Given the description of an element on the screen output the (x, y) to click on. 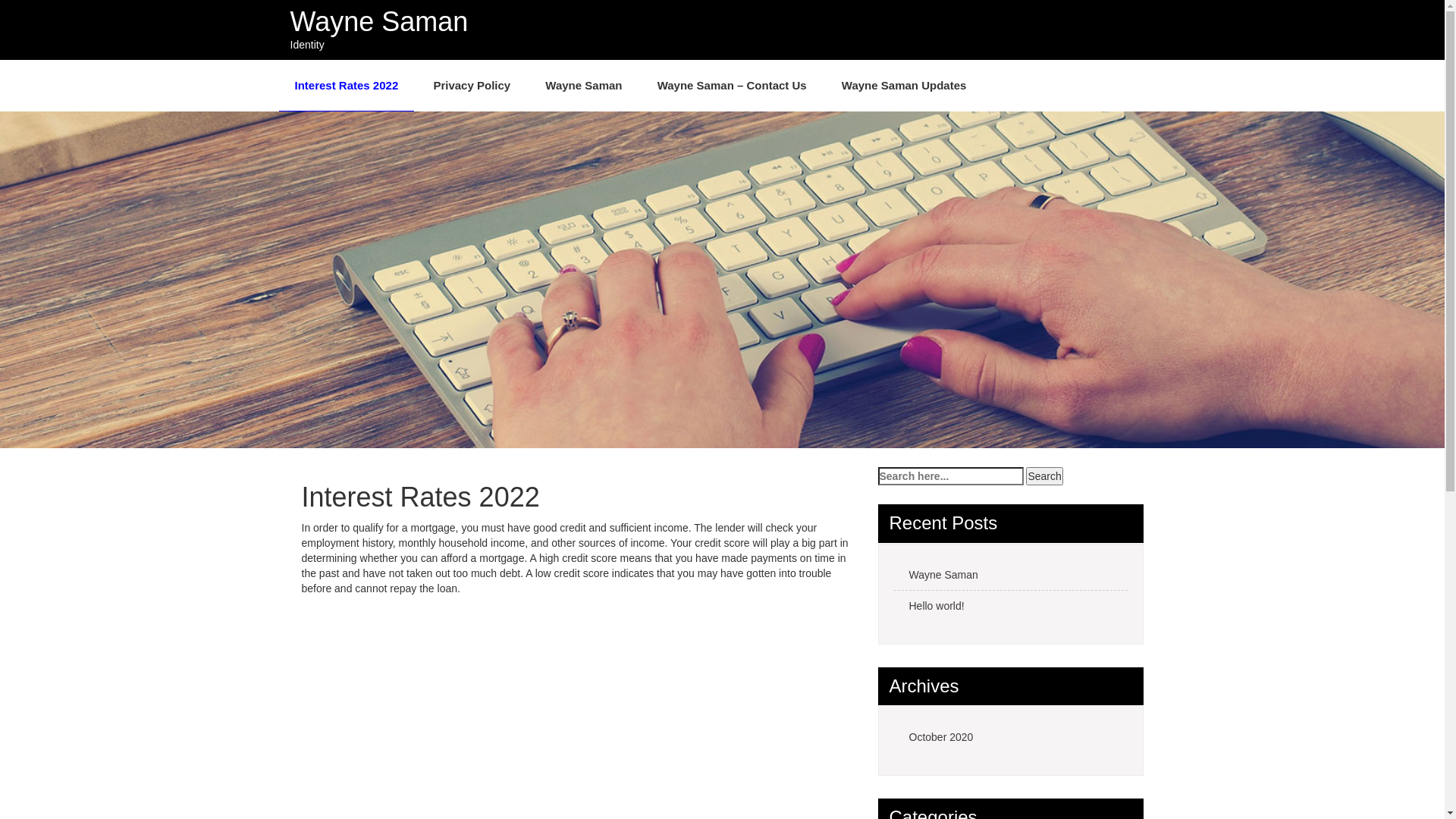
Hello world! Element type: text (1009, 604)
Wayne Saman Element type: text (583, 85)
Interest Rates 2022 Element type: text (346, 85)
October 2020 Element type: text (1009, 736)
Wayne Saman Element type: text (1009, 574)
Wayne Saman Element type: text (378, 21)
Search Element type: text (1044, 476)
Privacy Policy Element type: text (471, 85)
Wayne Saman Updates Element type: text (903, 85)
